Given the description of an element on the screen output the (x, y) to click on. 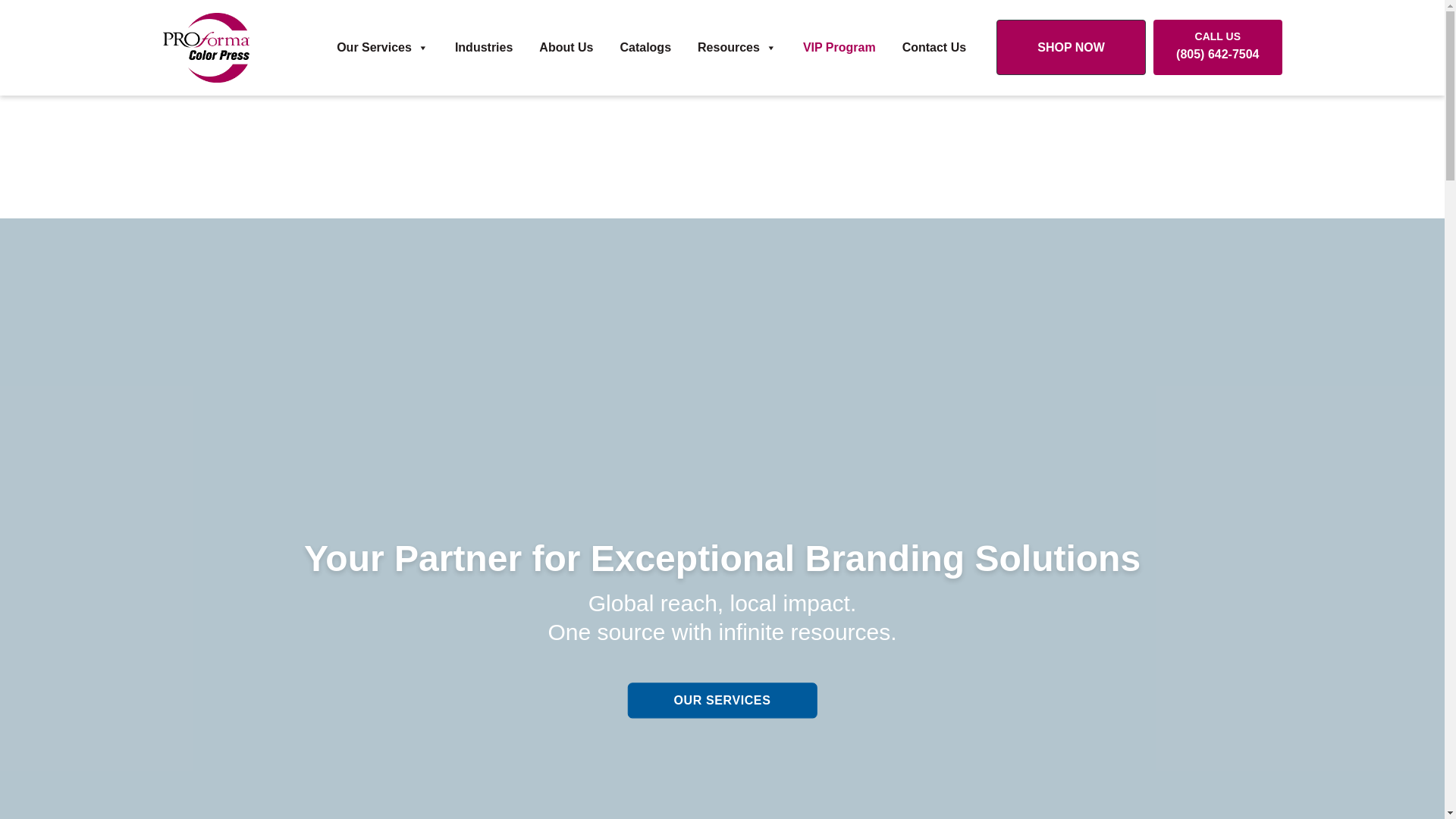
Contact Us (933, 47)
VIP Program (839, 47)
Resources (737, 47)
Industries (483, 47)
OUR SERVICES (721, 701)
OUR SERVICES (721, 701)
About Us (565, 47)
SHOP NOW (1070, 47)
Our Services (382, 47)
